Given the description of an element on the screen output the (x, y) to click on. 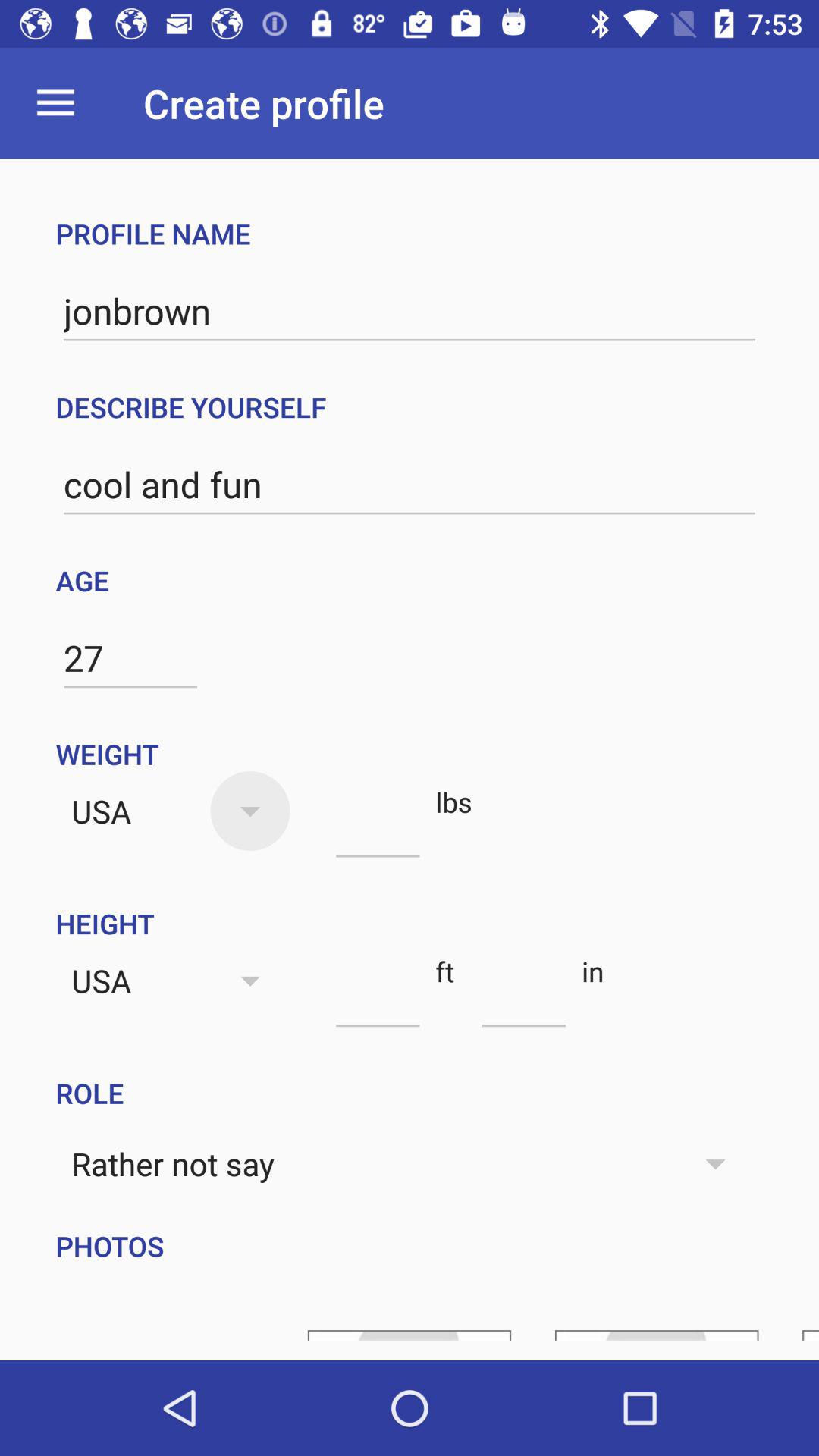
turn off the icon below describe yourself icon (409, 485)
